Given the description of an element on the screen output the (x, y) to click on. 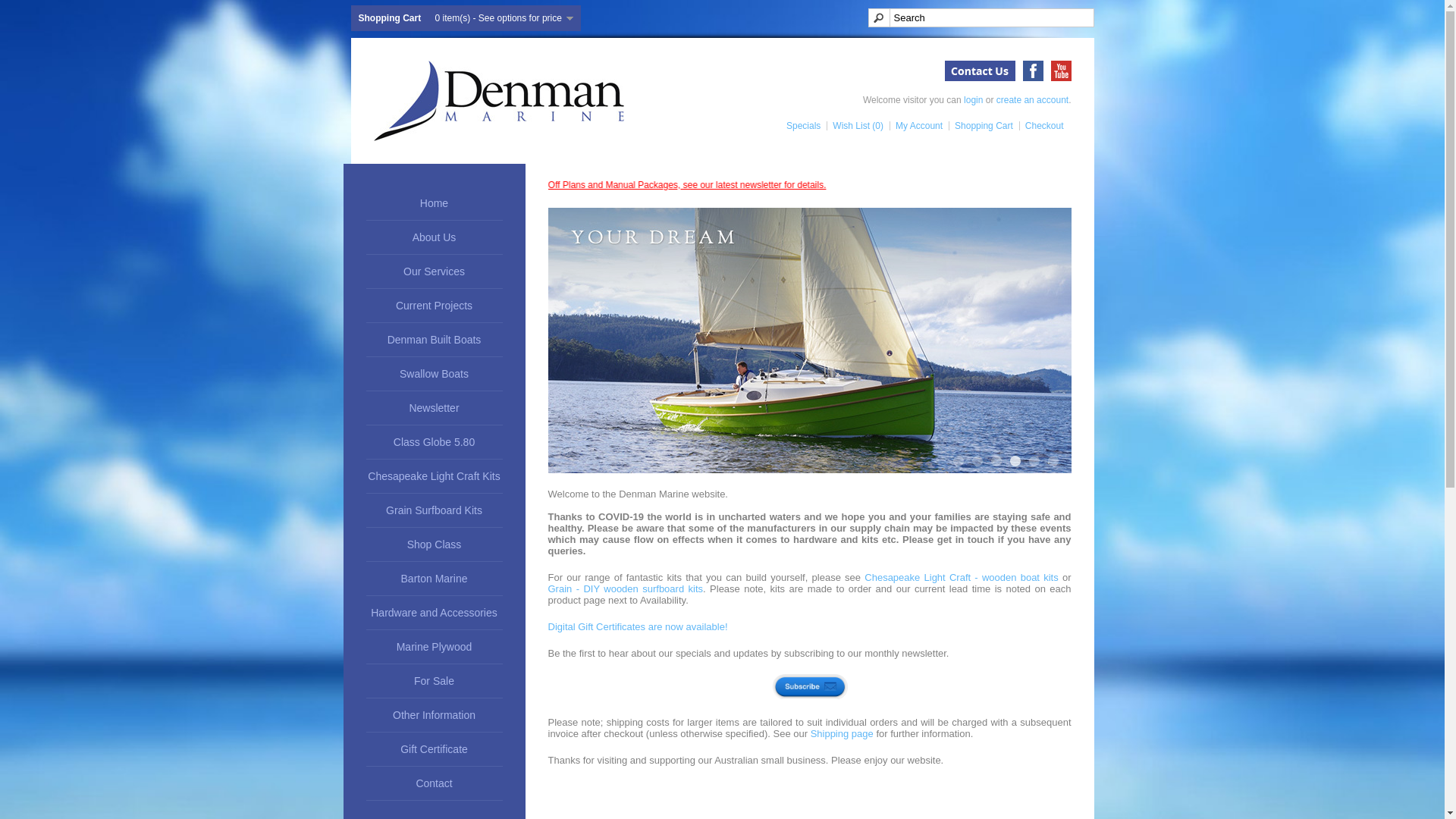
Specials Element type: text (800, 125)
Chesapeake Light Craft - wooden boat kits Element type: text (960, 577)
Swallow Boats Element type: text (433, 374)
Grain - DIY wooden surfboard kits Element type: text (624, 588)
Digital Gift Certificates are now available! Element type: text (637, 626)
Shopping Cart 0 item(s) - See options for price Element type: text (465, 18)
My Account Element type: text (915, 125)
Denman Marine Element type: hover (498, 100)
Grain Surfboard Kits Element type: text (433, 510)
Chesapeake Light Craft Kits Element type: text (433, 476)
Our Services Element type: text (433, 271)
Shop Class Element type: text (433, 544)
6 Element type: text (1052, 460)
5 Element type: text (1033, 460)
Search Element type: text (980, 17)
3 Element type: text (995, 460)
Current Projects Element type: text (433, 305)
Other Information Element type: text (433, 715)
1 Element type: text (957, 460)
create an account Element type: text (1032, 99)
Contact Element type: text (433, 783)
4 Element type: text (1015, 460)
Shopping Cart Element type: text (980, 125)
Checkout Element type: text (1041, 125)
Shipping page Element type: text (841, 733)
Newsletter Element type: text (433, 408)
About Us Element type: text (433, 237)
Class Globe 5.80 Element type: text (433, 442)
Barton Marine Element type: text (433, 578)
login Element type: text (972, 99)
Gift Certificate Element type: text (433, 749)
2 Element type: text (977, 460)
For Sale Element type: text (433, 681)
Hardware and Accessories Element type: text (433, 613)
Denman Built Boats Element type: text (433, 340)
Wish List (0) Element type: text (854, 125)
Marine Plywood Element type: text (433, 647)
Home Element type: text (433, 203)
